Given the description of an element on the screen output the (x, y) to click on. 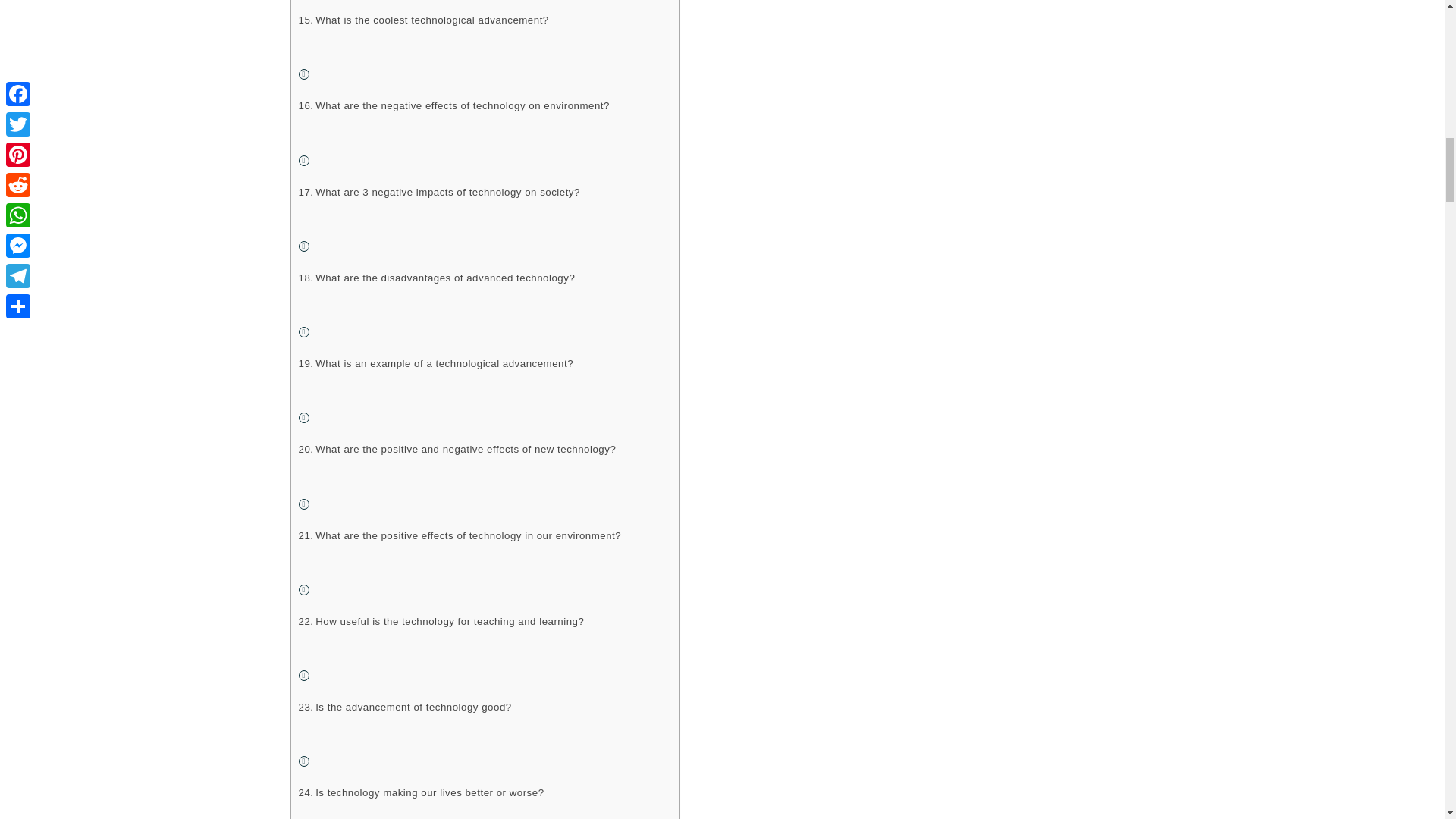
What are 3 negative impacts of technology on society? (438, 191)
What are the disadvantages of advanced technology? (436, 277)
Is the advancement of technology good? (405, 706)
What are the negative effects of technology on environment? (454, 105)
What are the disadvantages of advanced technology? (436, 277)
How useful is the technology for teaching and learning? (441, 621)
What is an example of a technological advancement? (435, 363)
What is an example of a technological advancement? (435, 363)
What are 3 negative impacts of technology on society? (438, 191)
What is the coolest technological advancement? (423, 19)
Is technology making our lives better or worse? (421, 792)
What are the negative effects of technology on environment? (454, 105)
